Given the description of an element on the screen output the (x, y) to click on. 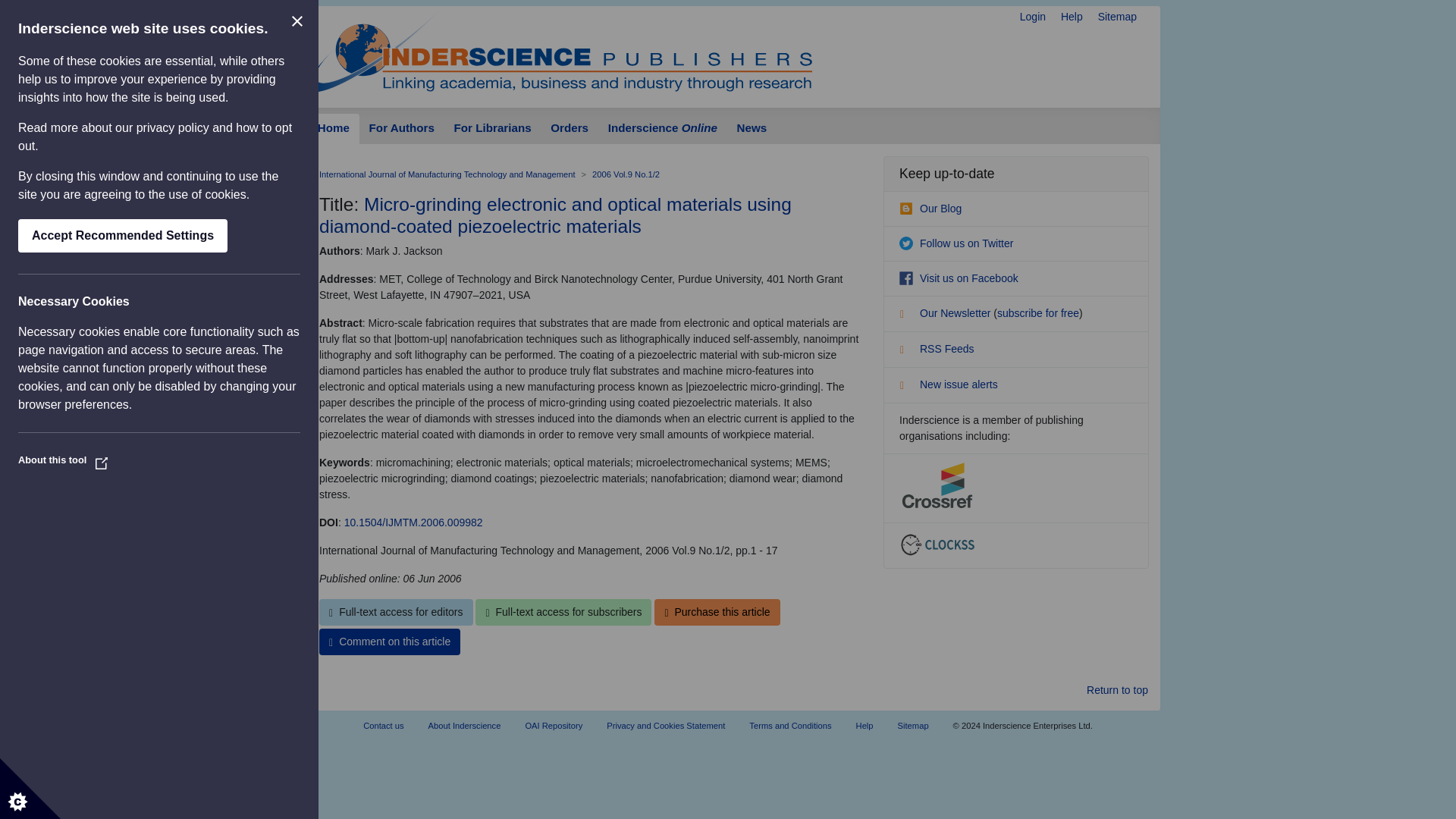
Sitemap (1117, 16)
News (751, 128)
list (906, 315)
Our Blog (929, 208)
Purchase this article (715, 611)
Login (1032, 16)
Accept Recommended Settings (122, 235)
For Authors (401, 128)
For Librarians (492, 128)
Our Newsletter (945, 313)
Sitemap (1117, 16)
Comment on this article (389, 641)
Read our privacy policy (172, 127)
RSS (906, 351)
flag (906, 386)
